Given the description of an element on the screen output the (x, y) to click on. 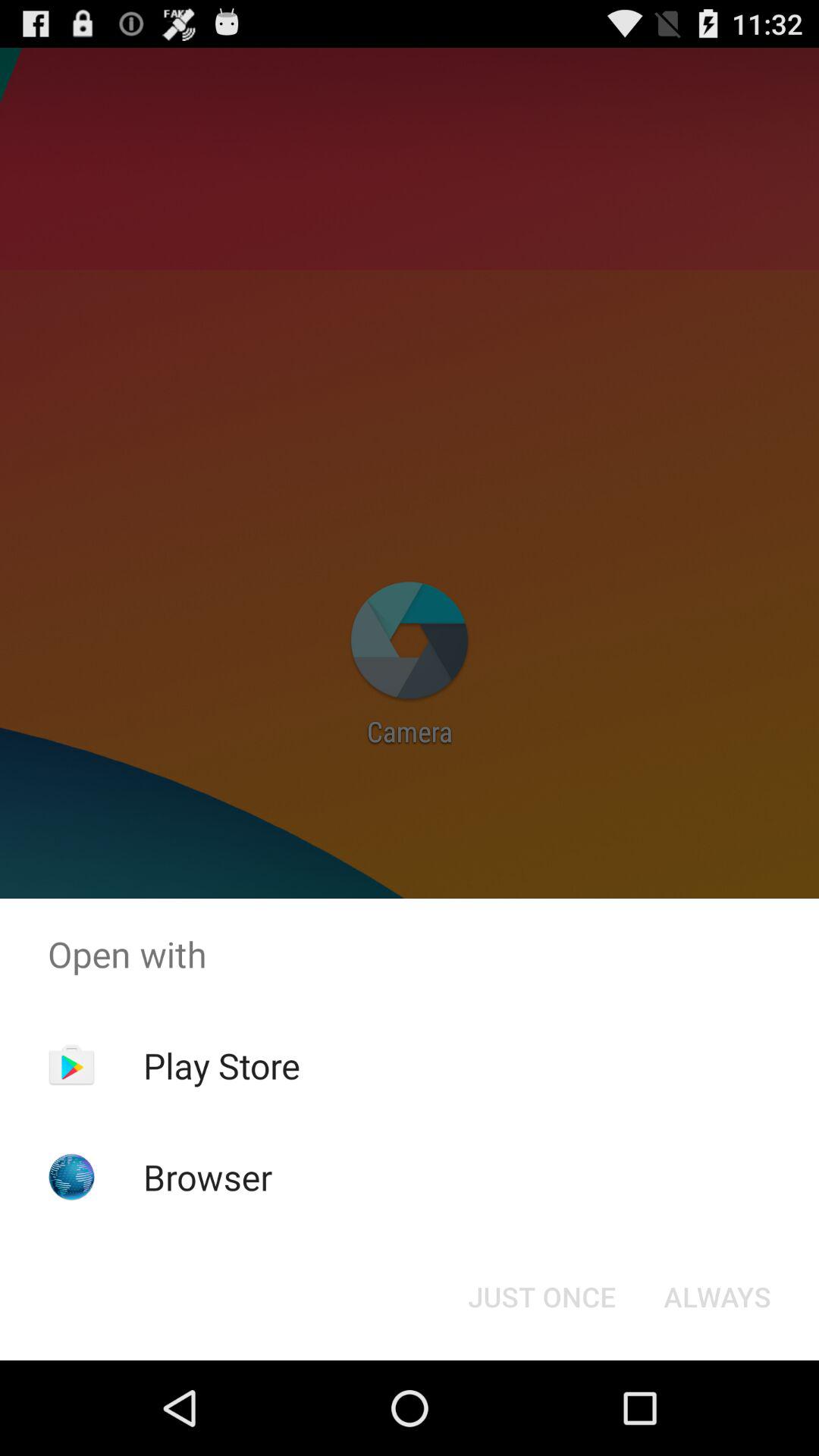
tap icon next to just once icon (717, 1296)
